Given the description of an element on the screen output the (x, y) to click on. 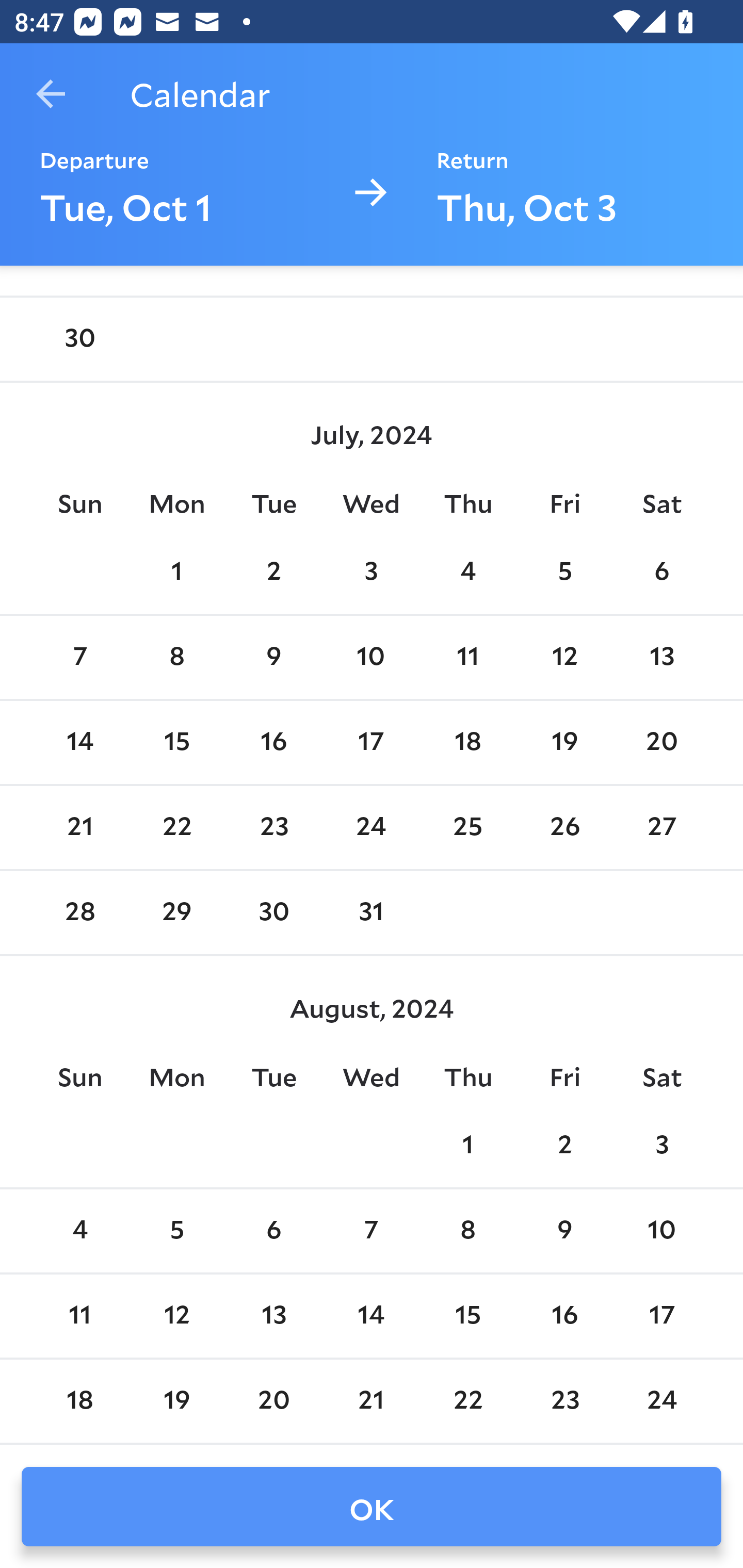
Navigate up (50, 93)
30 (79, 338)
1 (177, 572)
2 (273, 572)
3 (371, 572)
4 (467, 572)
5 (565, 572)
6 (661, 572)
7 (79, 656)
8 (177, 656)
9 (273, 656)
10 (371, 656)
11 (467, 656)
12 (565, 656)
13 (661, 656)
14 (79, 743)
15 (177, 743)
16 (273, 743)
17 (371, 743)
18 (467, 743)
19 (565, 743)
20 (661, 743)
21 (79, 827)
22 (177, 827)
23 (273, 827)
24 (371, 827)
25 (467, 827)
26 (565, 827)
27 (661, 827)
28 (79, 912)
29 (177, 912)
30 (273, 912)
31 (371, 912)
1 (467, 1146)
2 (565, 1146)
3 (661, 1146)
4 (79, 1230)
5 (177, 1230)
6 (273, 1230)
7 (371, 1230)
8 (467, 1230)
9 (565, 1230)
10 (661, 1230)
11 (79, 1315)
12 (177, 1315)
13 (273, 1315)
14 (371, 1315)
15 (467, 1315)
16 (565, 1315)
17 (661, 1315)
18 (79, 1401)
19 (177, 1401)
20 (273, 1401)
21 (371, 1401)
22 (467, 1401)
23 (565, 1401)
24 (661, 1401)
OK (371, 1506)
